Given the description of an element on the screen output the (x, y) to click on. 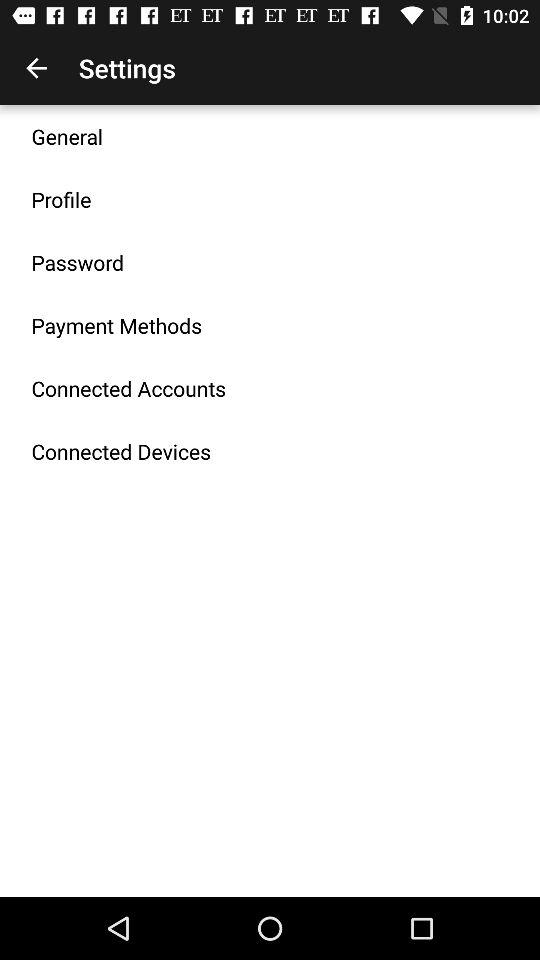
jump to connected accounts icon (128, 388)
